Given the description of an element on the screen output the (x, y) to click on. 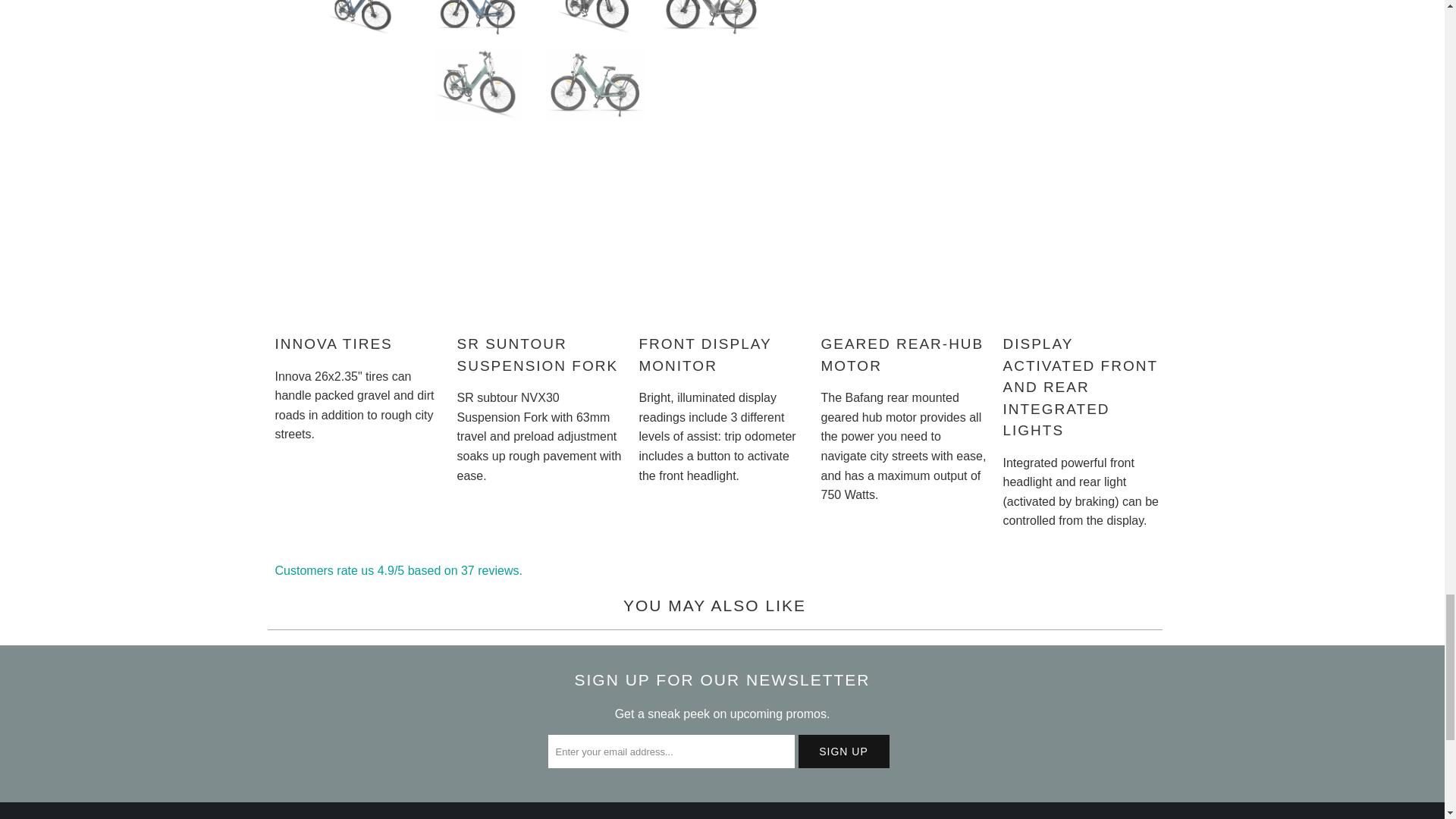
Sign Up (842, 751)
